Given the description of an element on the screen output the (x, y) to click on. 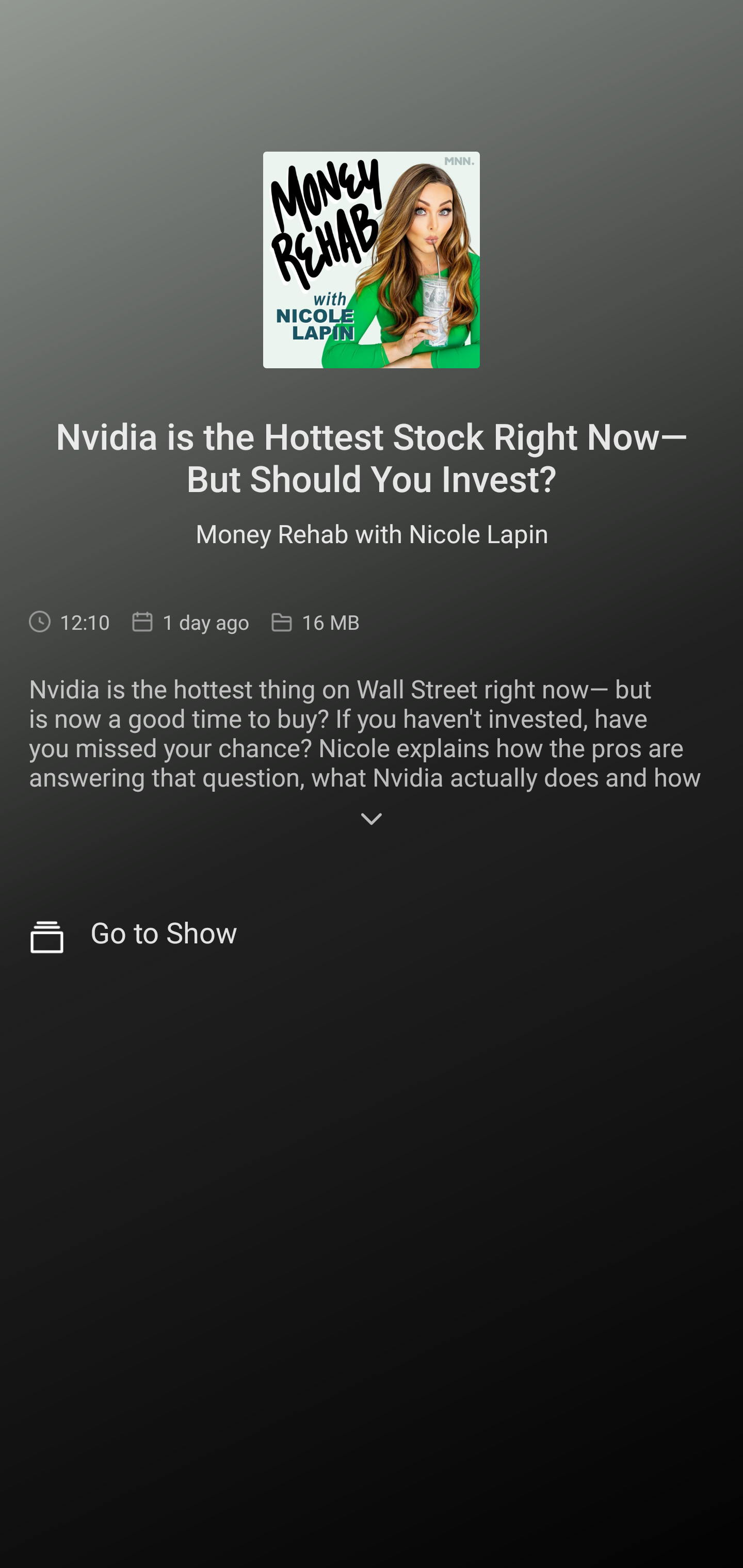
 (371, 821)
Go to Show (371, 937)
